Given the description of an element on the screen output the (x, y) to click on. 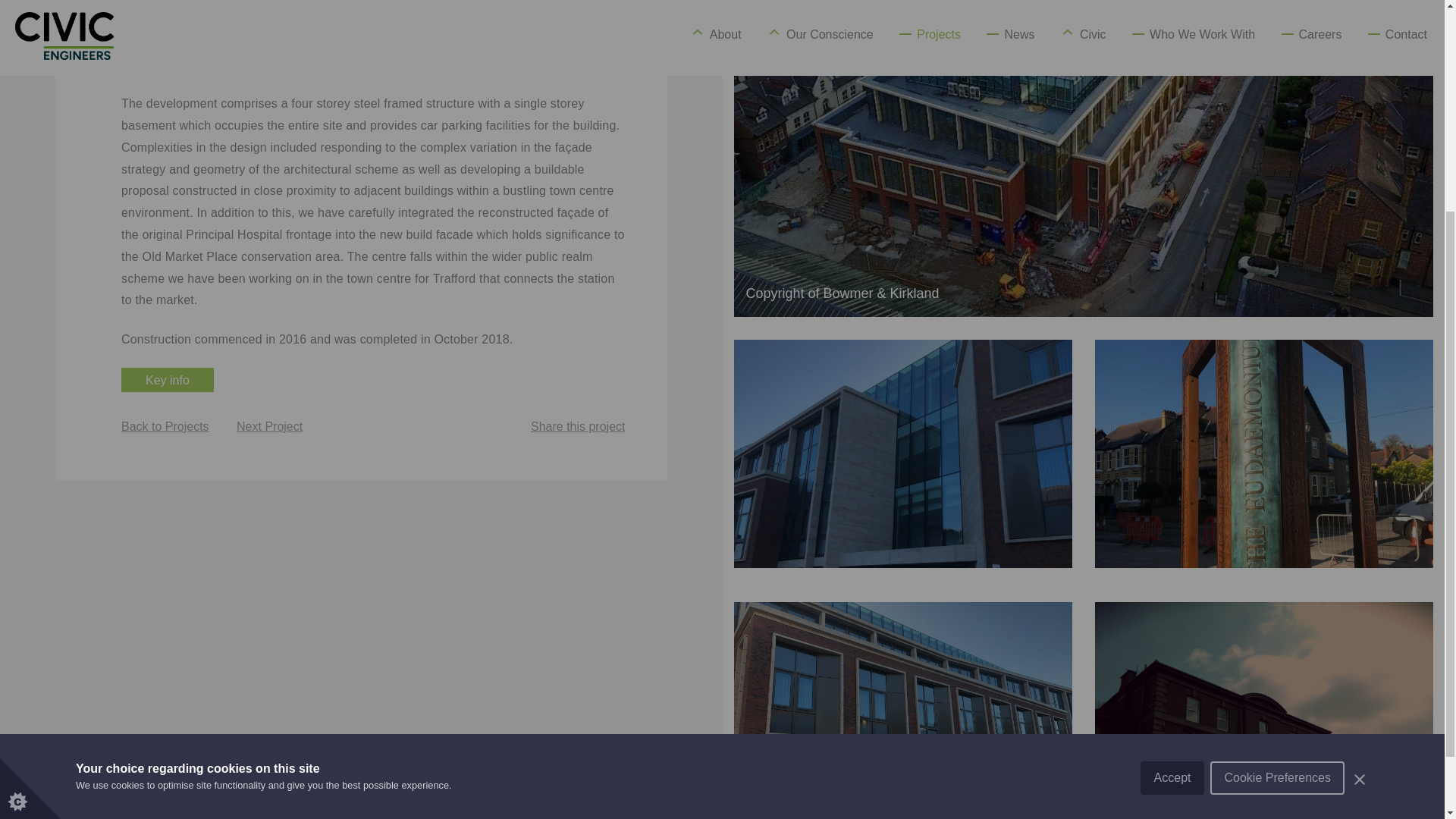
Next Project (268, 427)
Back to Projects (164, 427)
Share this project (578, 427)
Accept (1172, 542)
Privacy Policy (1397, 504)
Cookie Preferences (1276, 526)
